Given the description of an element on the screen output the (x, y) to click on. 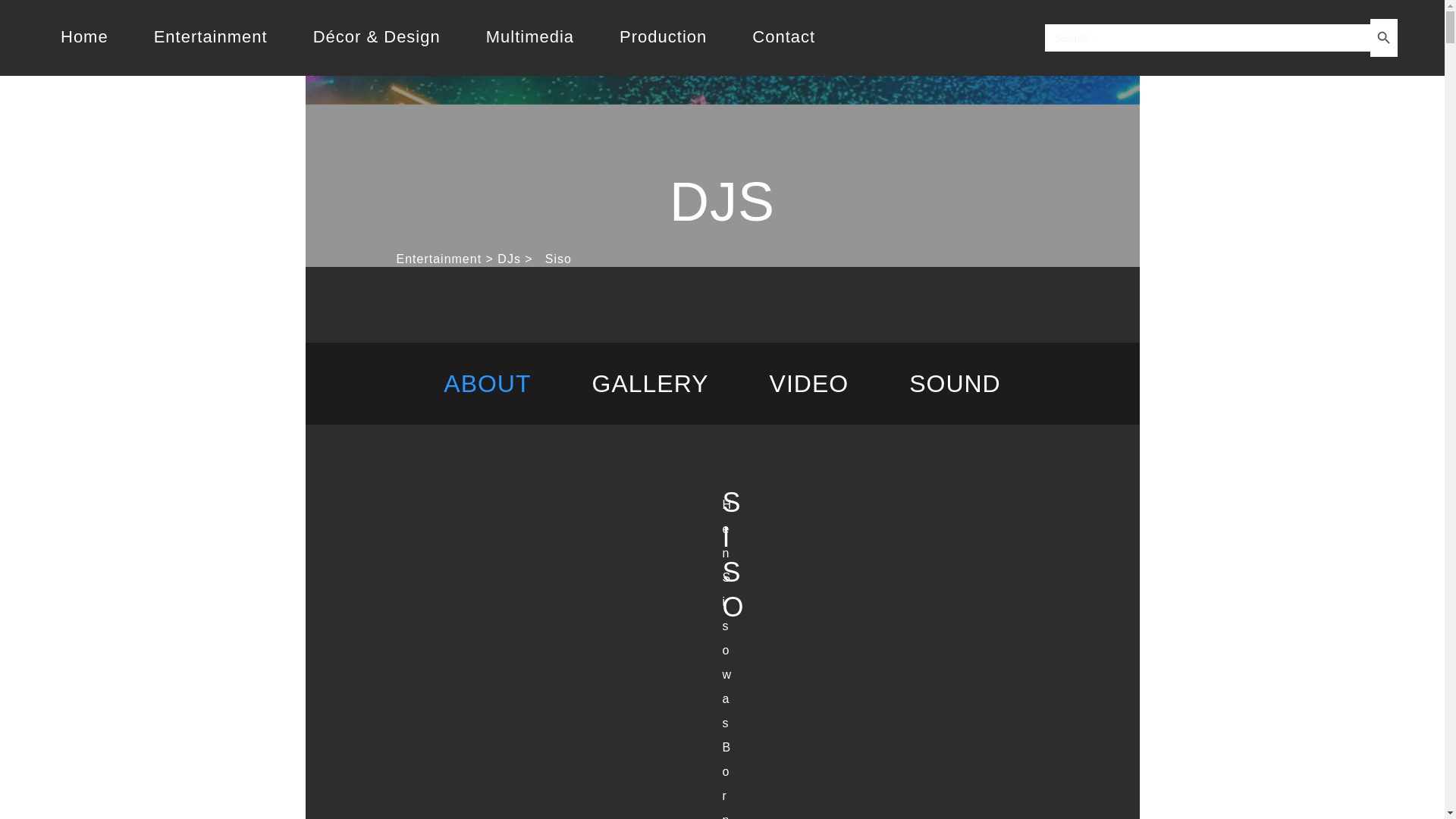
Entertainment (210, 37)
Entertainment (438, 258)
Home (84, 37)
DJs (509, 258)
Production (663, 37)
Multimedia (529, 37)
Contact (782, 37)
